Given the description of an element on the screen output the (x, y) to click on. 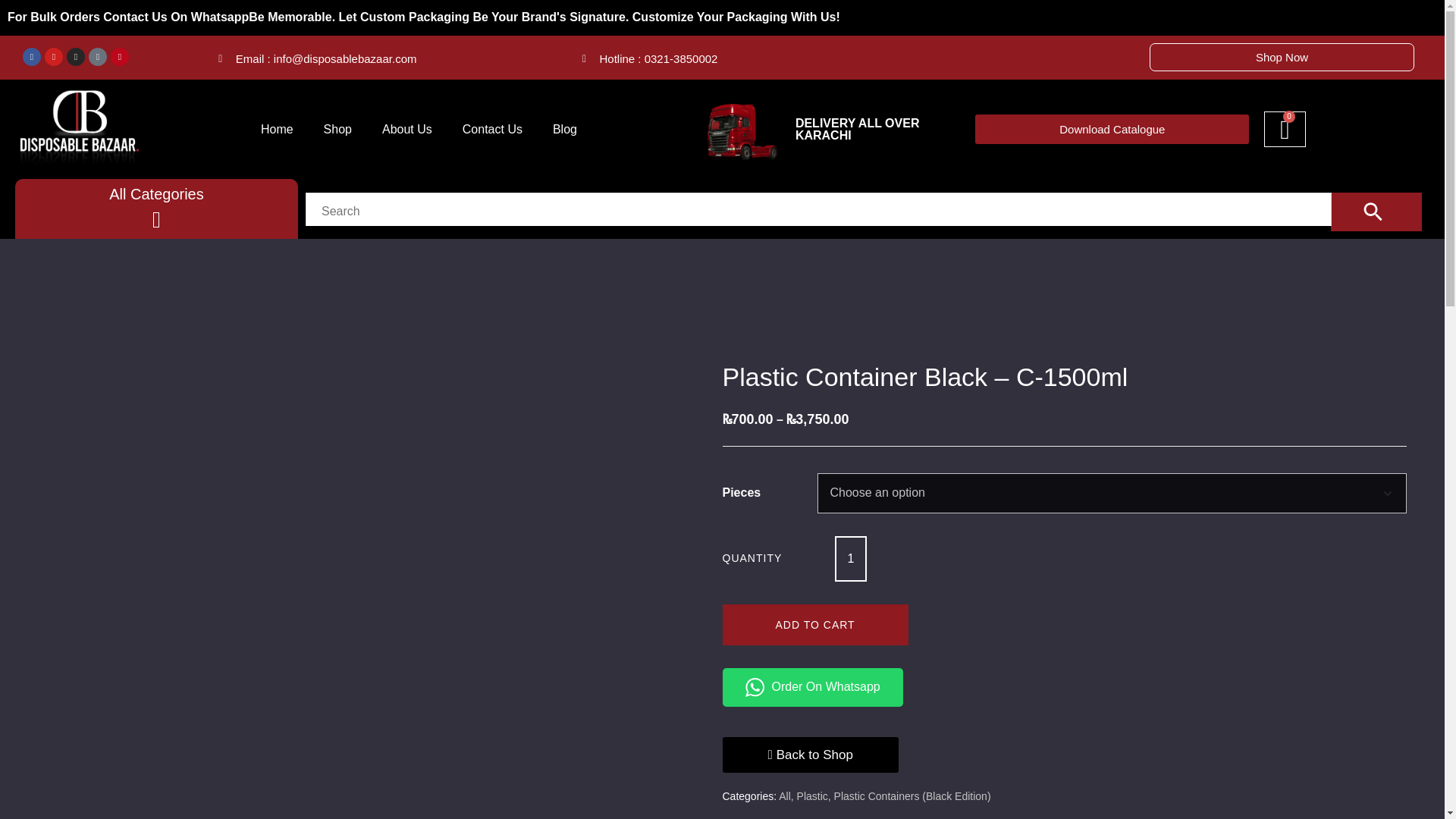
Contact Us (491, 129)
Shop Now (1281, 57)
About Us (406, 129)
Download Catalogue (1112, 129)
Shop (337, 129)
Blog (564, 129)
Home (277, 129)
Hotline : 0321-3850002 (649, 58)
